Given the description of an element on the screen output the (x, y) to click on. 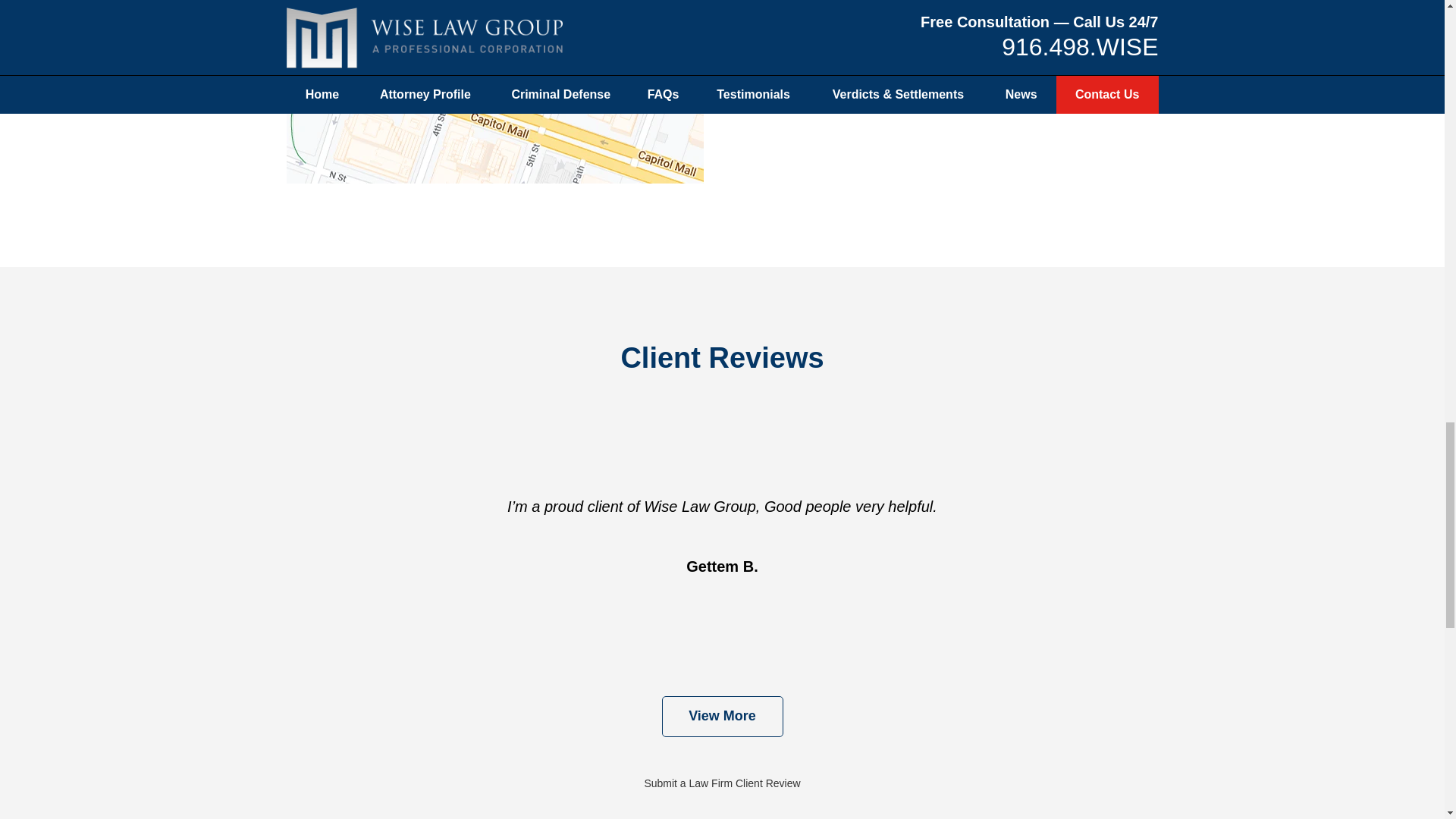
View More (722, 716)
Submit a Law Firm Client Review (721, 783)
916.498.9473 (842, 33)
